Given the description of an element on the screen output the (x, y) to click on. 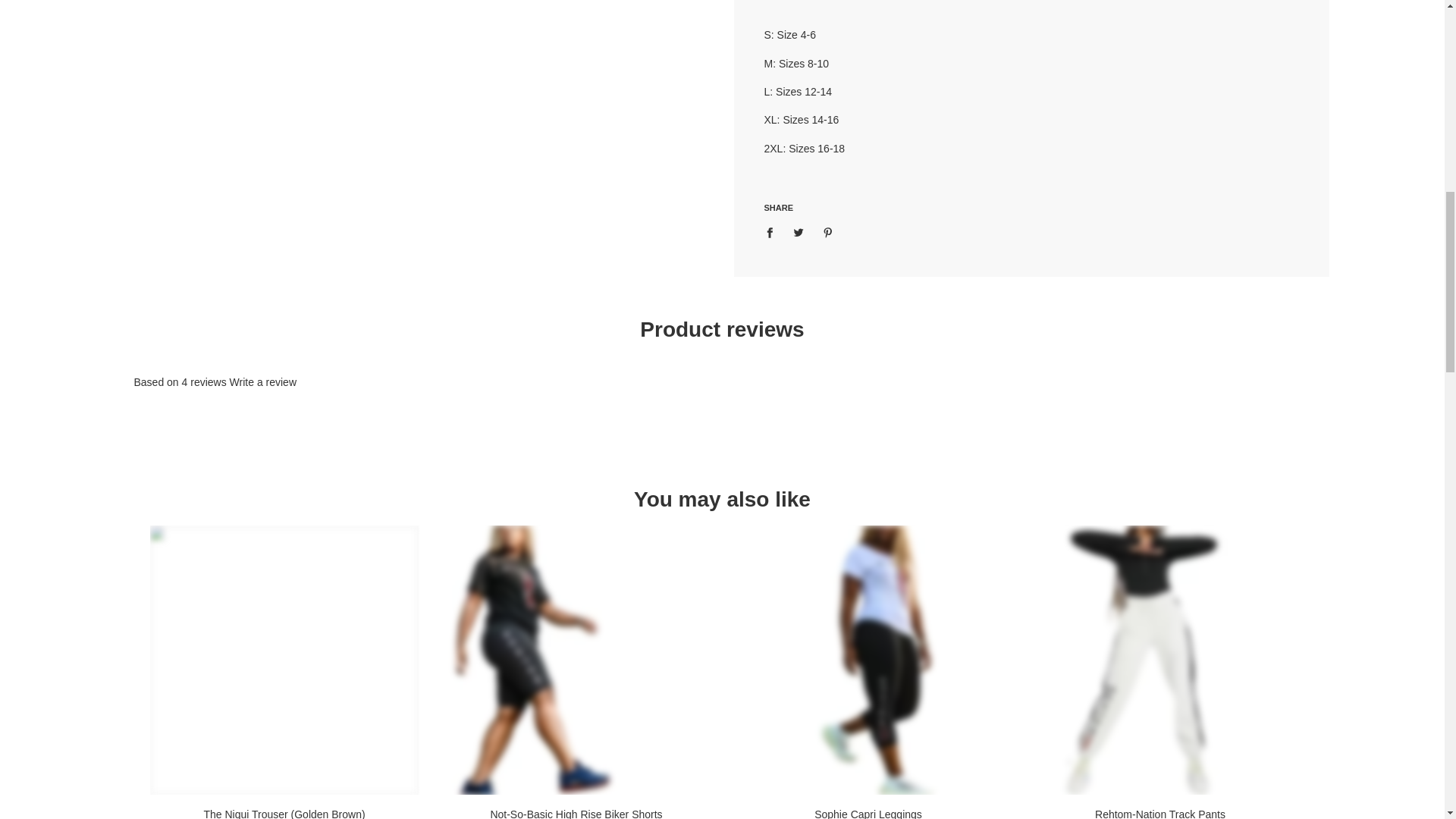
Sophie Capri Leggings (868, 659)
Rehtom-Nation Track Pants (1159, 659)
Not-So-Basic High Rise Biker Shorts (575, 659)
